Given the description of an element on the screen output the (x, y) to click on. 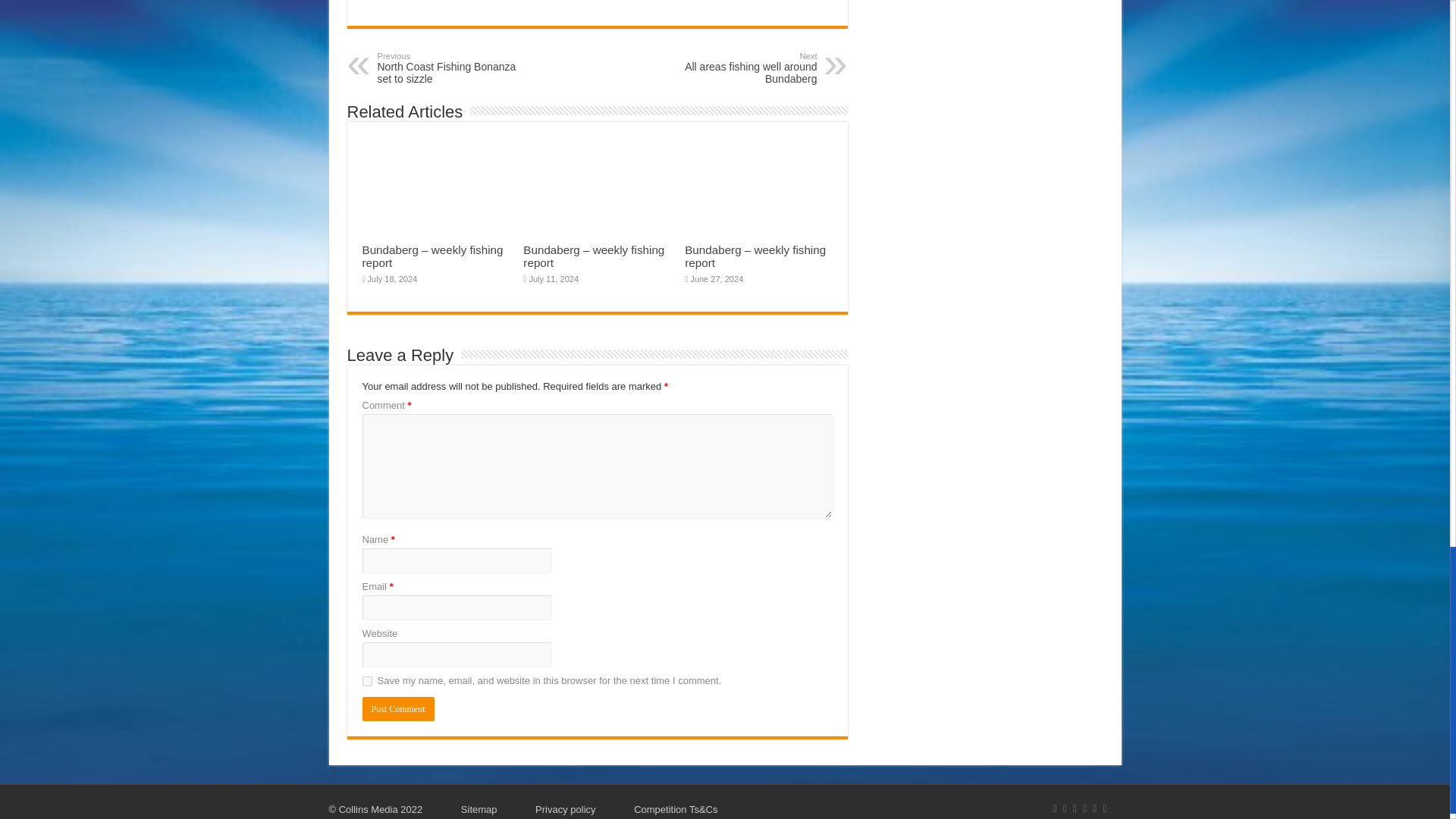
yes (367, 681)
Post Comment (397, 708)
